Given the description of an element on the screen output the (x, y) to click on. 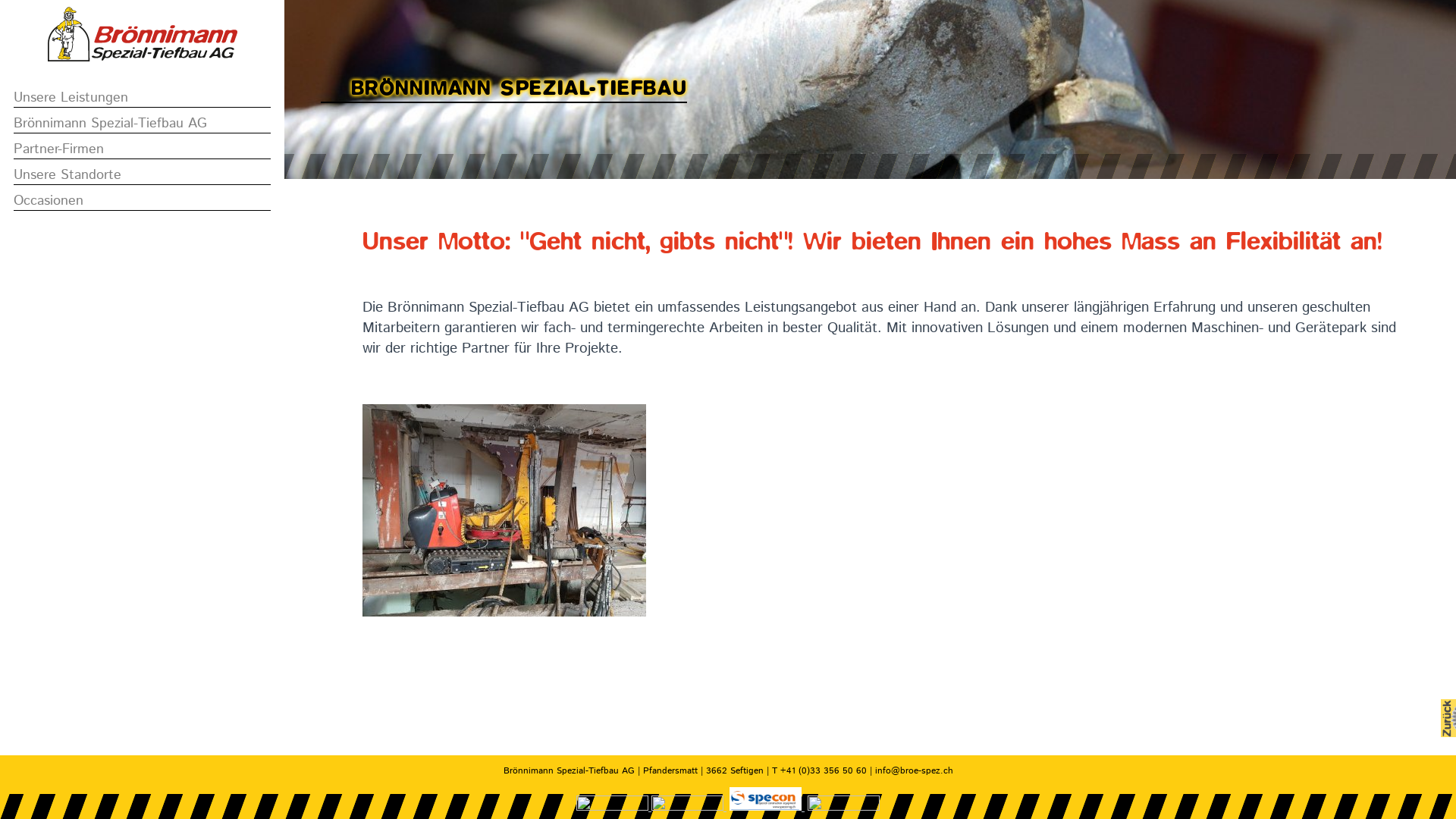
  Element type: text (613, 807)
Unsere Leistungen Element type: text (141, 97)
Unsere Standorte Element type: text (141, 175)
  Element type: text (766, 807)
Occasionen Element type: text (141, 200)
  Element type: text (688, 807)
Partner-Firmen Element type: text (141, 149)
